Given the description of an element on the screen output the (x, y) to click on. 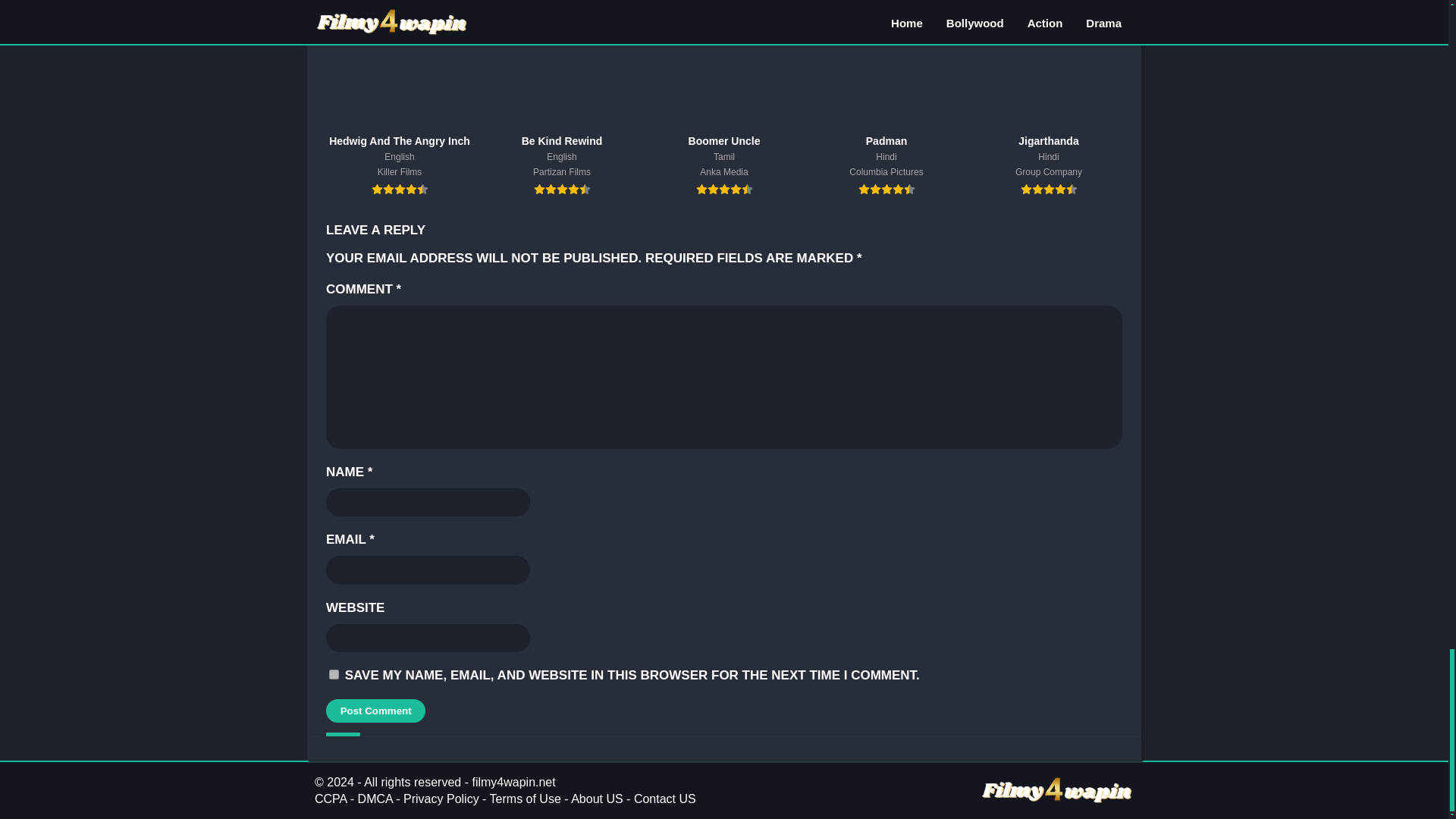
Post Comment (375, 710)
yes (334, 674)
